Given the description of an element on the screen output the (x, y) to click on. 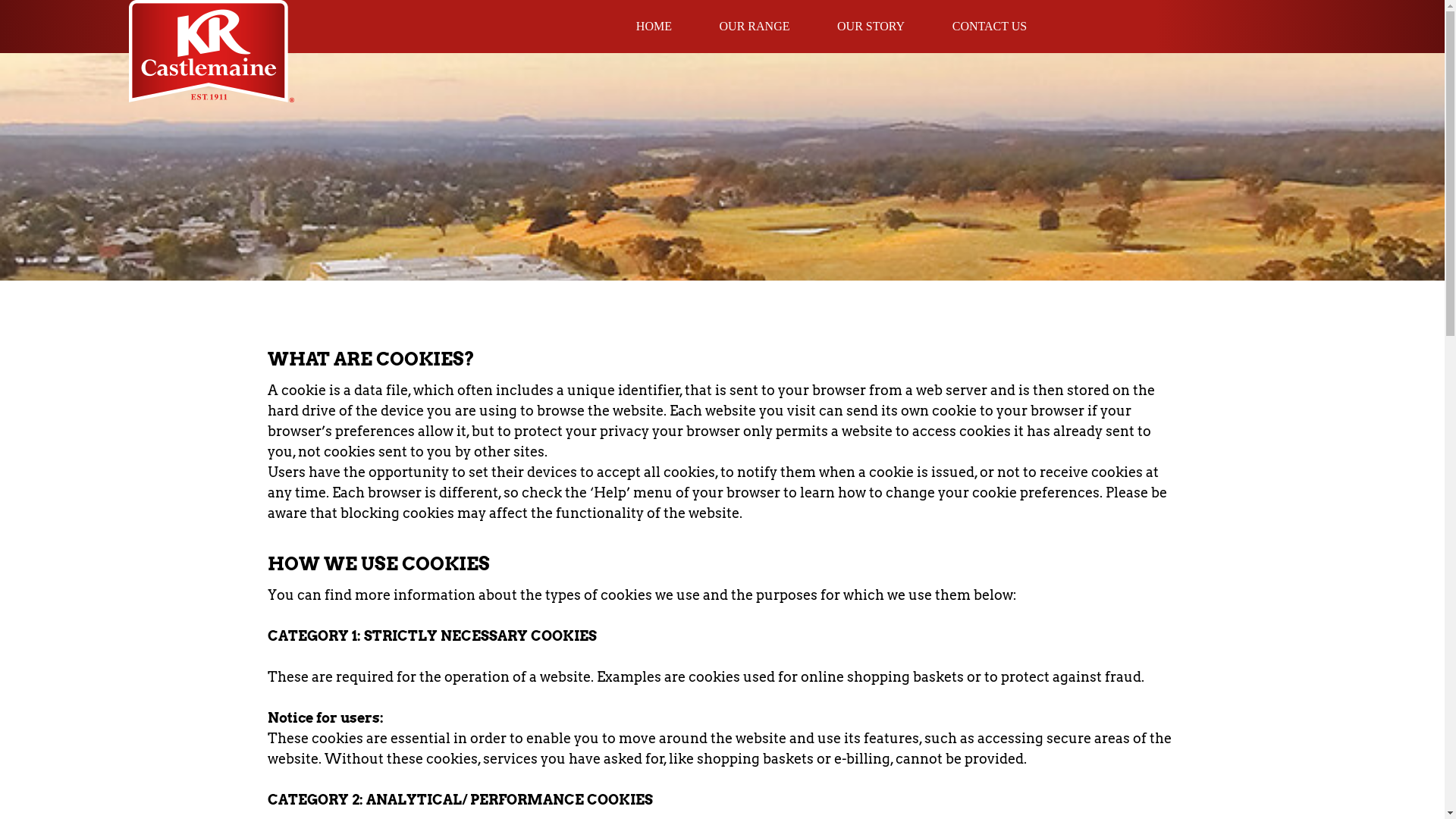
OUR RANGE Element type: text (754, 26)
HOME Element type: text (653, 26)
OUR STORY Element type: text (870, 26)
CONTACT US Element type: text (989, 26)
